Given the description of an element on the screen output the (x, y) to click on. 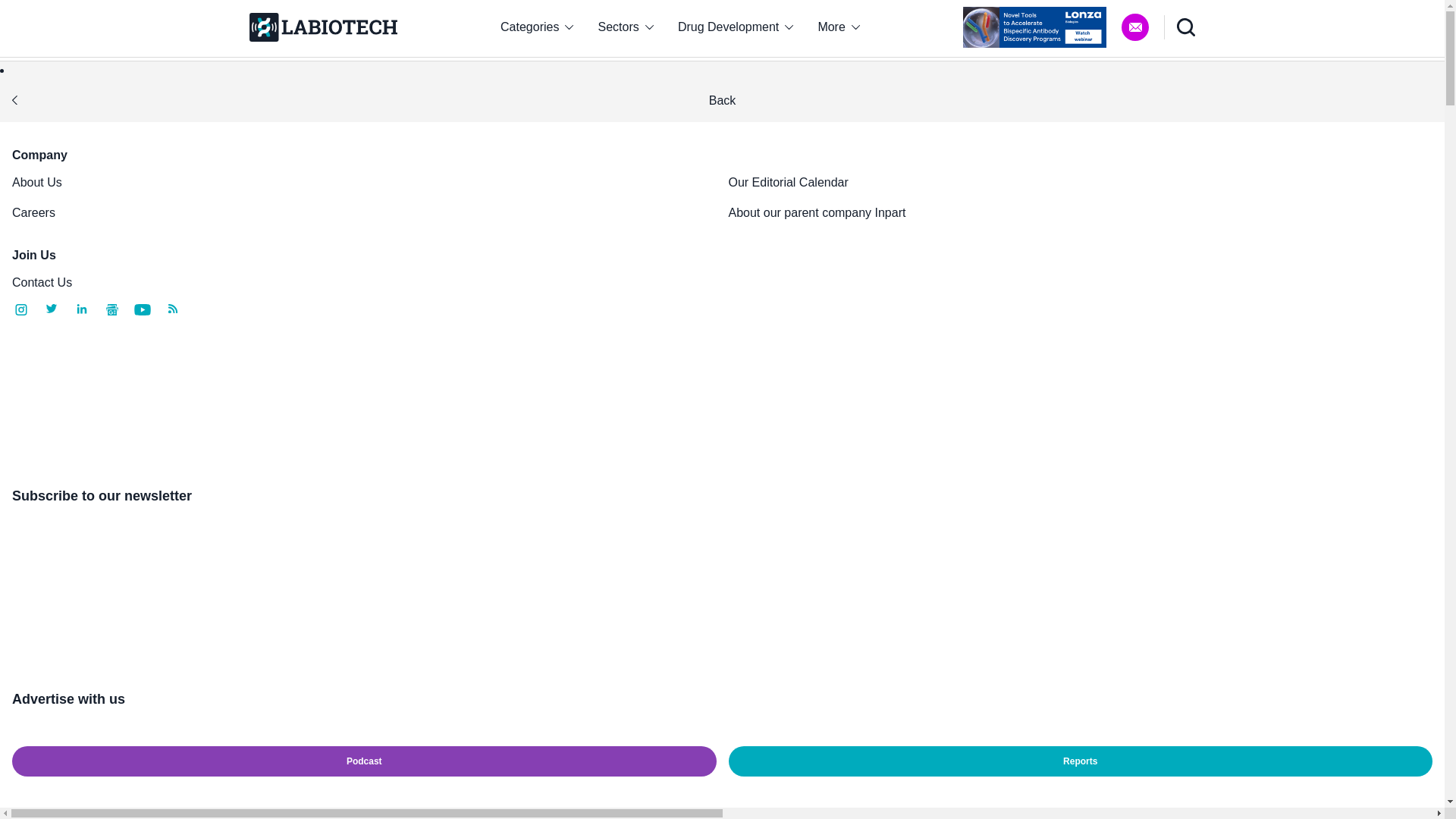
Sectors (625, 27)
Labiotech.eu (322, 27)
Drug Development (735, 27)
Categories (536, 27)
